Given the description of an element on the screen output the (x, y) to click on. 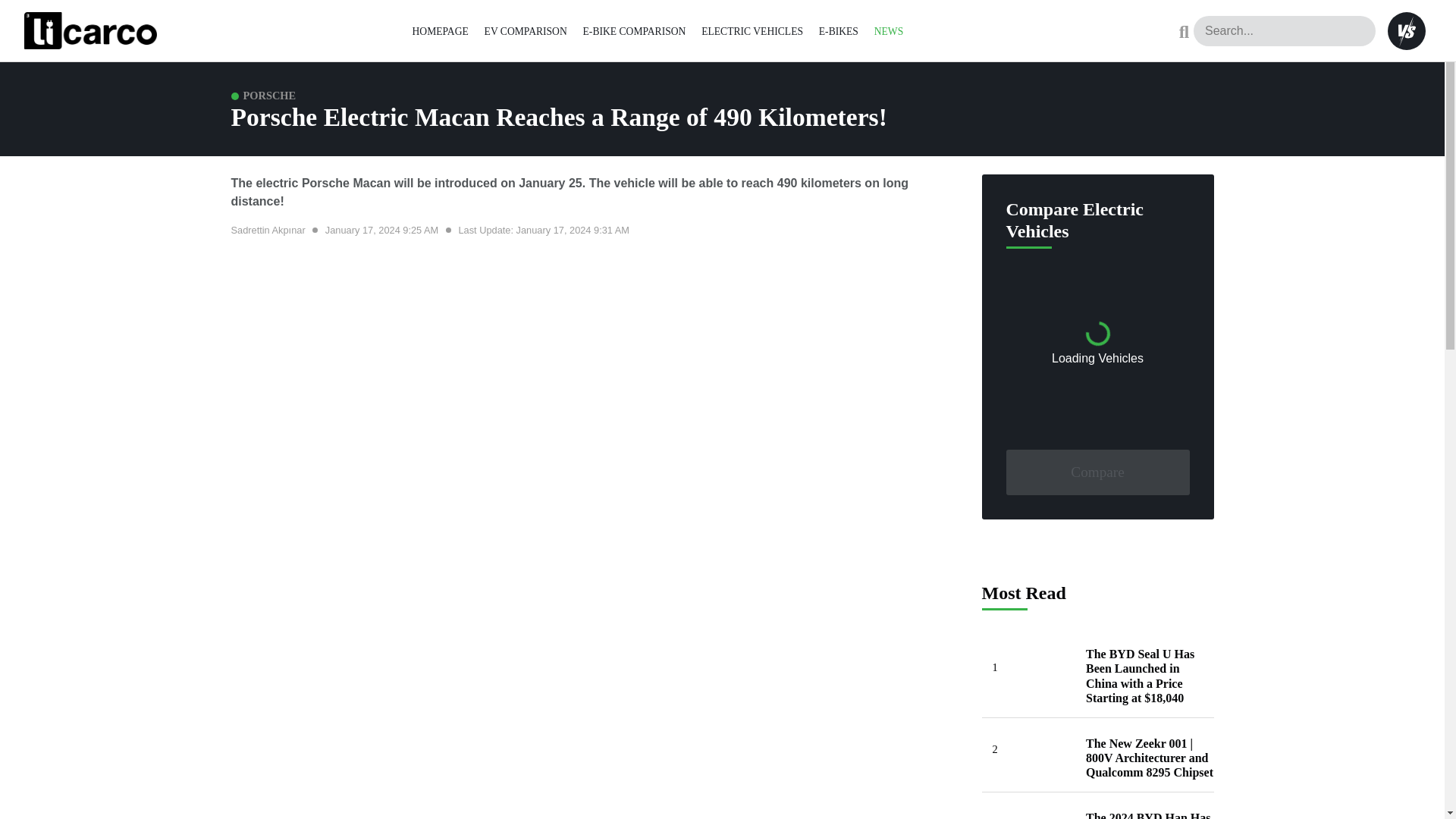
NEWS (889, 30)
E-BIKE COMPARISON (634, 30)
EV COMPARISON (525, 30)
E-BIKES (838, 30)
Compare (1097, 472)
HOMEPAGE (440, 30)
ELECTRIC VEHICLES (752, 30)
